Given the description of an element on the screen output the (x, y) to click on. 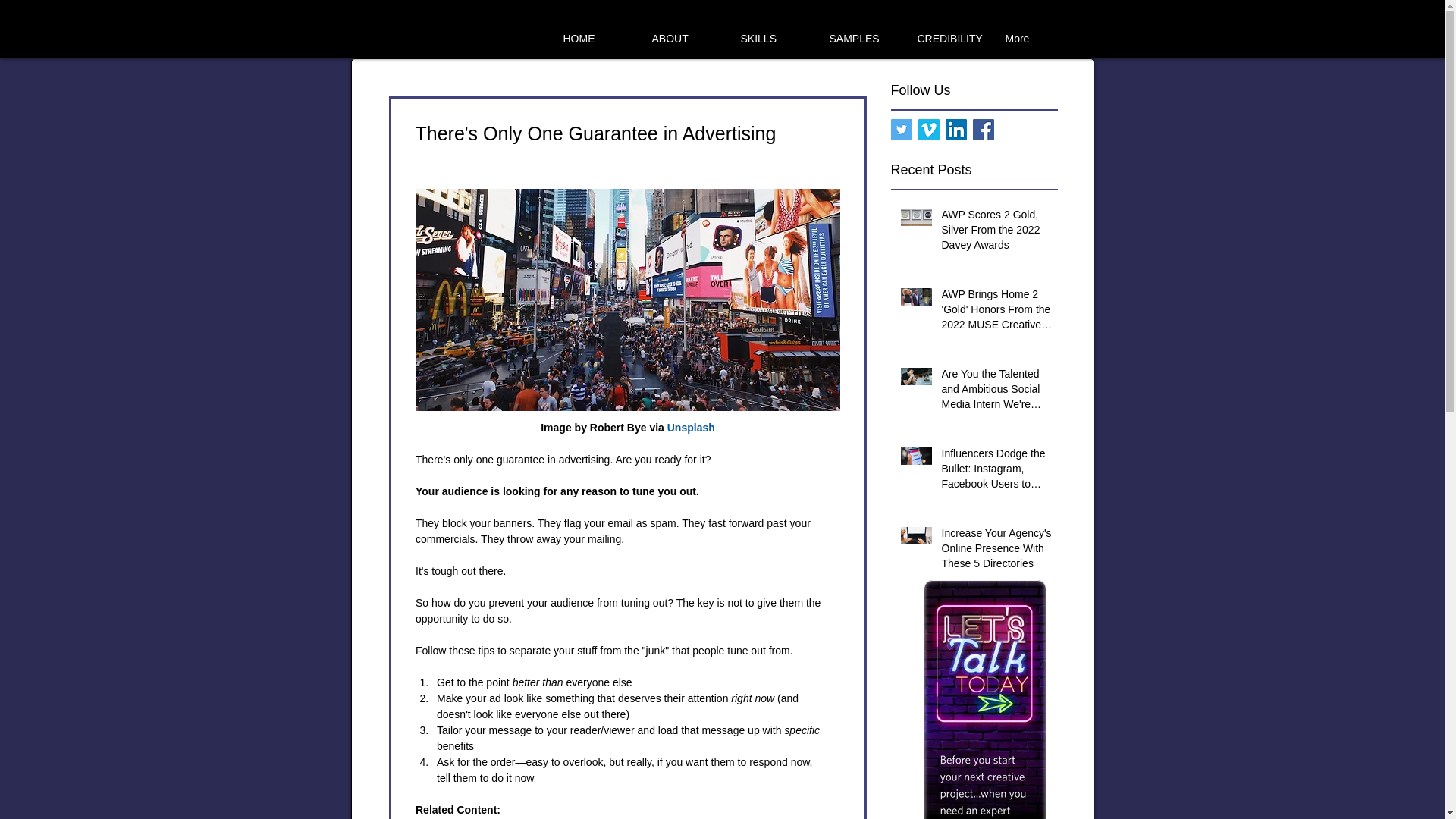
ABOUT (686, 31)
SAMPLES (862, 31)
CREDIBILITY (950, 31)
SKILLS (774, 31)
AWP Scores 2 Gold, Silver From the 2022 Davey Awards (998, 233)
Unsplash (690, 427)
HOME (597, 31)
